Given the description of an element on the screen output the (x, y) to click on. 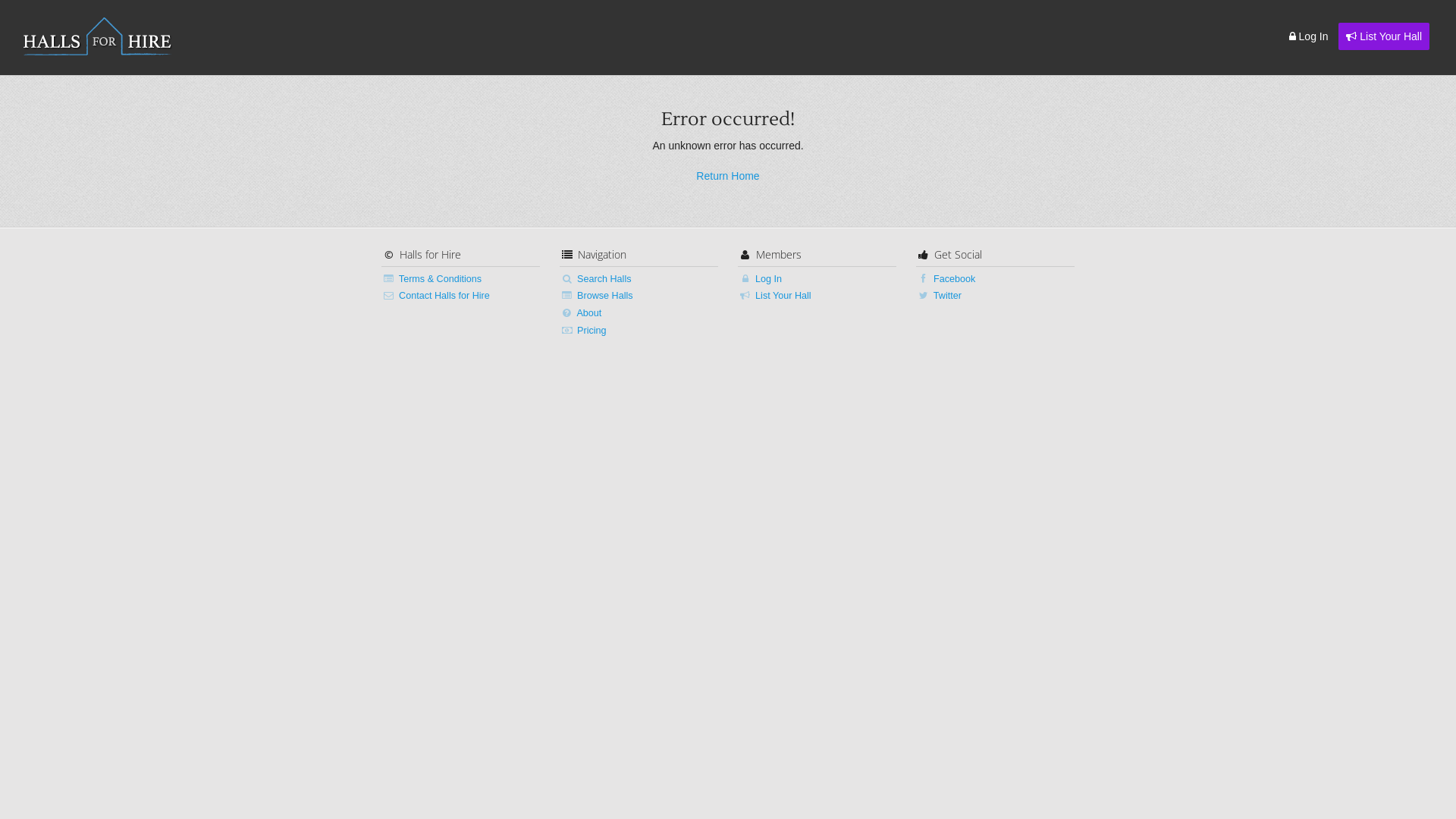
Twitter Element type: text (995, 295)
About Element type: text (638, 313)
Terms & Conditions Element type: text (460, 279)
Return Home Element type: text (727, 175)
Log In Element type: text (817, 279)
Pricing Element type: text (638, 330)
Browse Halls Element type: text (638, 295)
Contact Halls for Hire Element type: text (460, 295)
HALLS FOR HIRE Element type: text (97, 36)
List Your Hall Element type: text (817, 295)
List Your Hall Element type: text (1383, 36)
Log In Element type: text (1308, 36)
Search Halls Element type: text (638, 279)
Facebook Element type: text (995, 279)
